Given the description of an element on the screen output the (x, y) to click on. 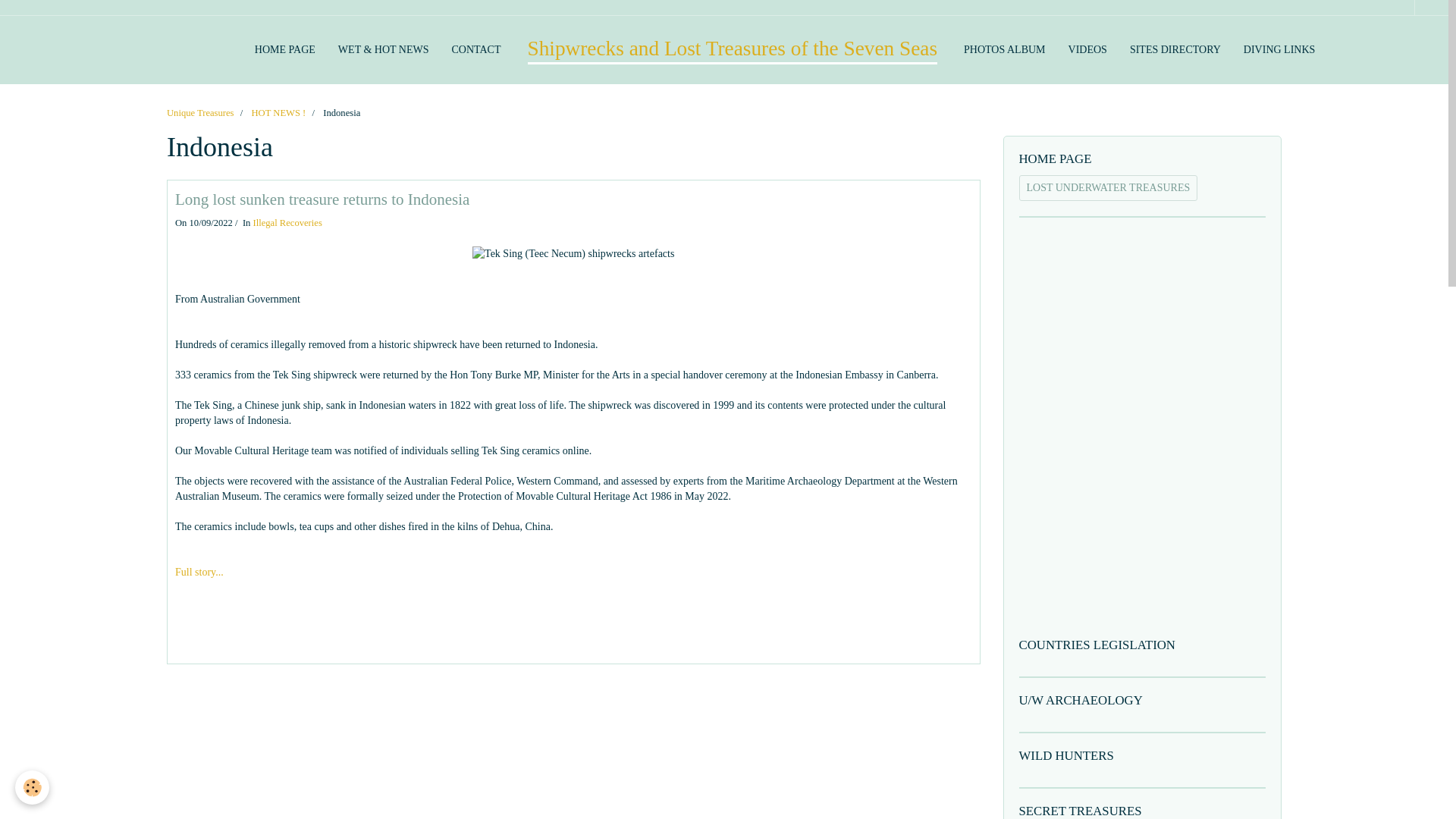
PHOTOS ALBUM (1004, 49)
SITES DIRECTORY (1174, 49)
Full story... (199, 572)
HOT NEWS ! (277, 112)
HOME PAGE (284, 49)
VIDEOS (1087, 49)
WILD HUNTERS (1142, 756)
Illegal Recoveries (287, 222)
CONTACT (475, 49)
Long lost sunken treasure returns to Indonesia (321, 199)
LOST UNDERWATER TREASURES (1108, 187)
Shipwrecks and Lost Treasures of the Seven Seas (732, 49)
Unique Treasures (200, 112)
DIVING LINKS (1278, 49)
COUNTRIES LEGISLATION (1142, 645)
